Given the description of an element on the screen output the (x, y) to click on. 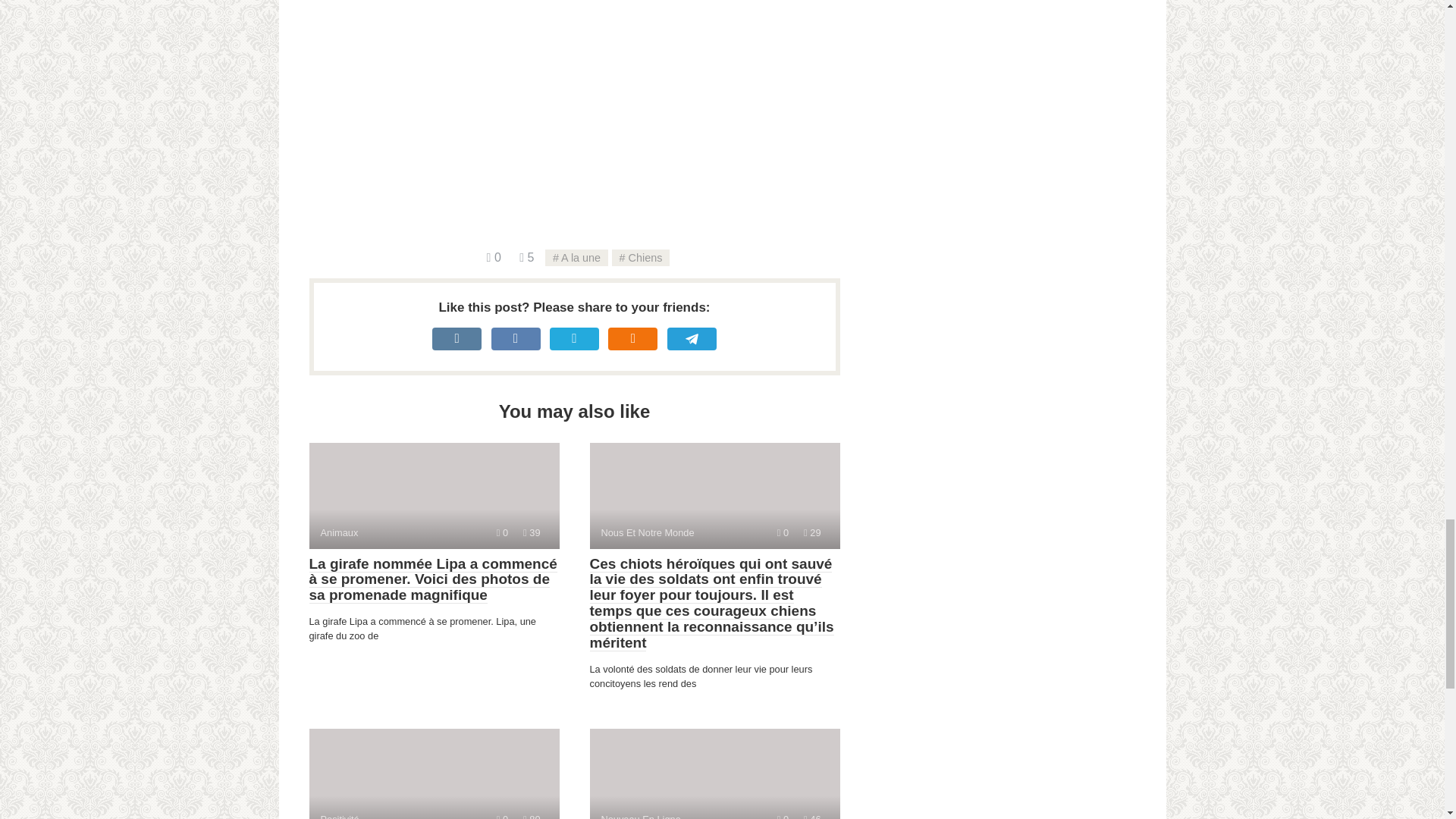
Views (531, 816)
Views (812, 532)
Views (531, 532)
Advertisement (585, 123)
Comments (493, 256)
A la une (576, 257)
Comments (502, 532)
Views (526, 256)
Views (433, 495)
